Given the description of an element on the screen output the (x, y) to click on. 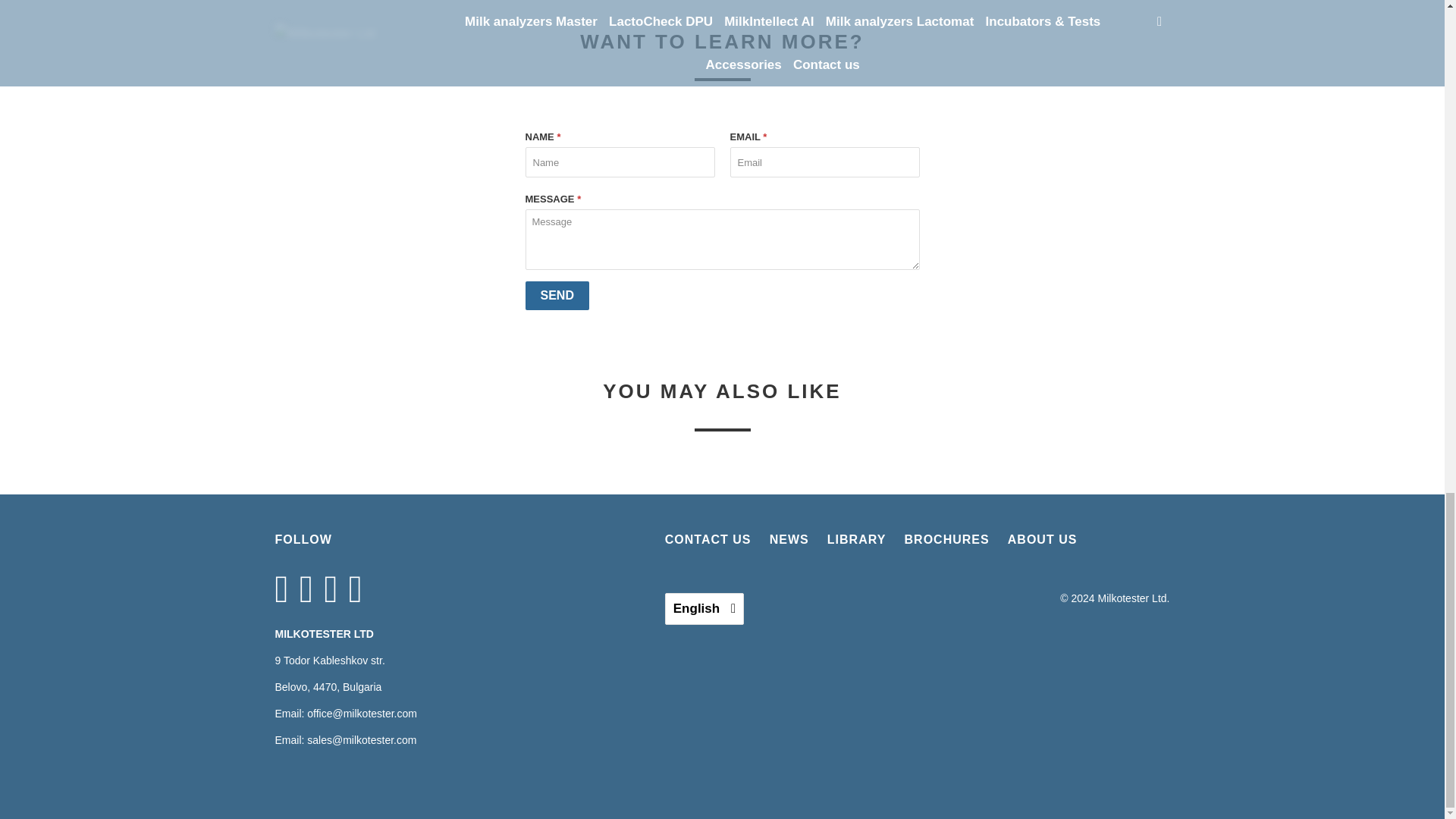
Send (556, 295)
BROCHURES (947, 539)
Send (556, 295)
CONTACT US (708, 539)
LIBRARY (856, 539)
NEWS (789, 539)
